Given the description of an element on the screen output the (x, y) to click on. 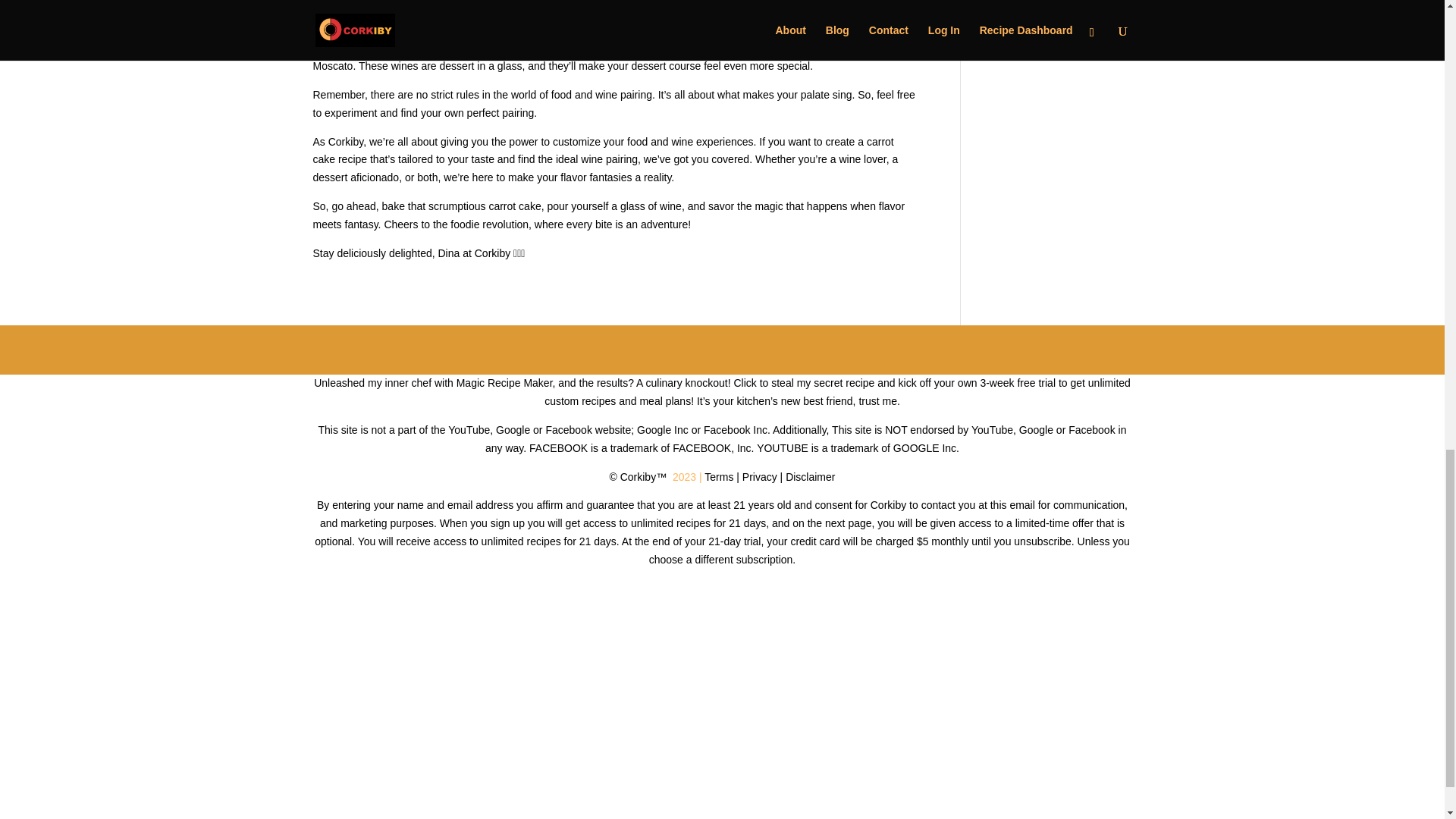
Disclaimer (810, 476)
Privacy (759, 476)
Terms (718, 476)
